Given the description of an element on the screen output the (x, y) to click on. 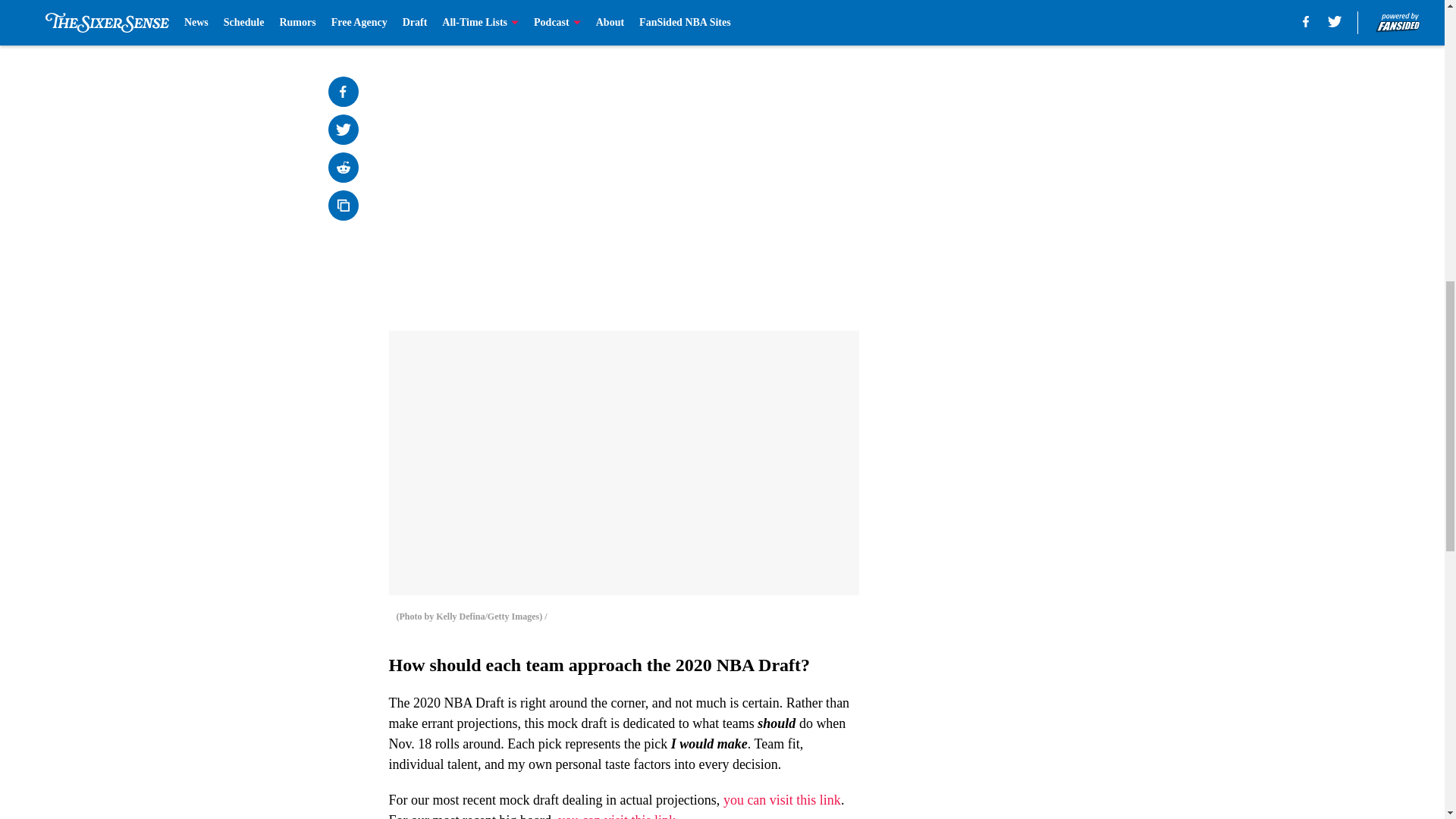
you can visit this link (616, 816)
you can visit this link (782, 799)
Next (813, 20)
Prev (433, 20)
